Given the description of an element on the screen output the (x, y) to click on. 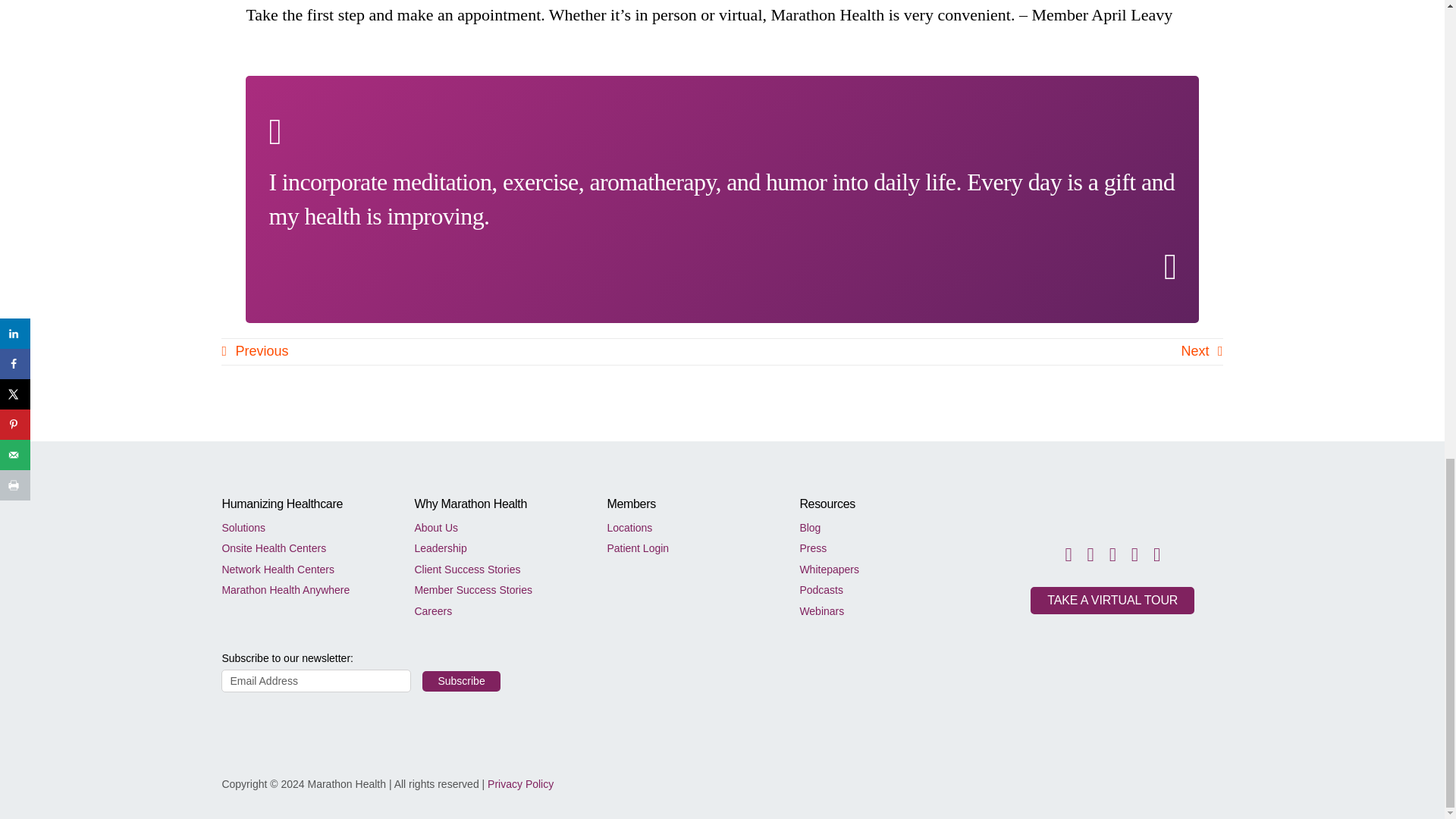
Client Success Stories (494, 567)
Solutions (302, 525)
Leadership (494, 546)
Next (1201, 351)
Subscribe (460, 680)
Previous (254, 351)
Marathon Health Anywhere (302, 588)
Network Health Centers (302, 567)
KLAS-all-logos-2024 (1073, 764)
Onsite Health Centers (302, 546)
About Us (494, 525)
